Given the description of an element on the screen output the (x, y) to click on. 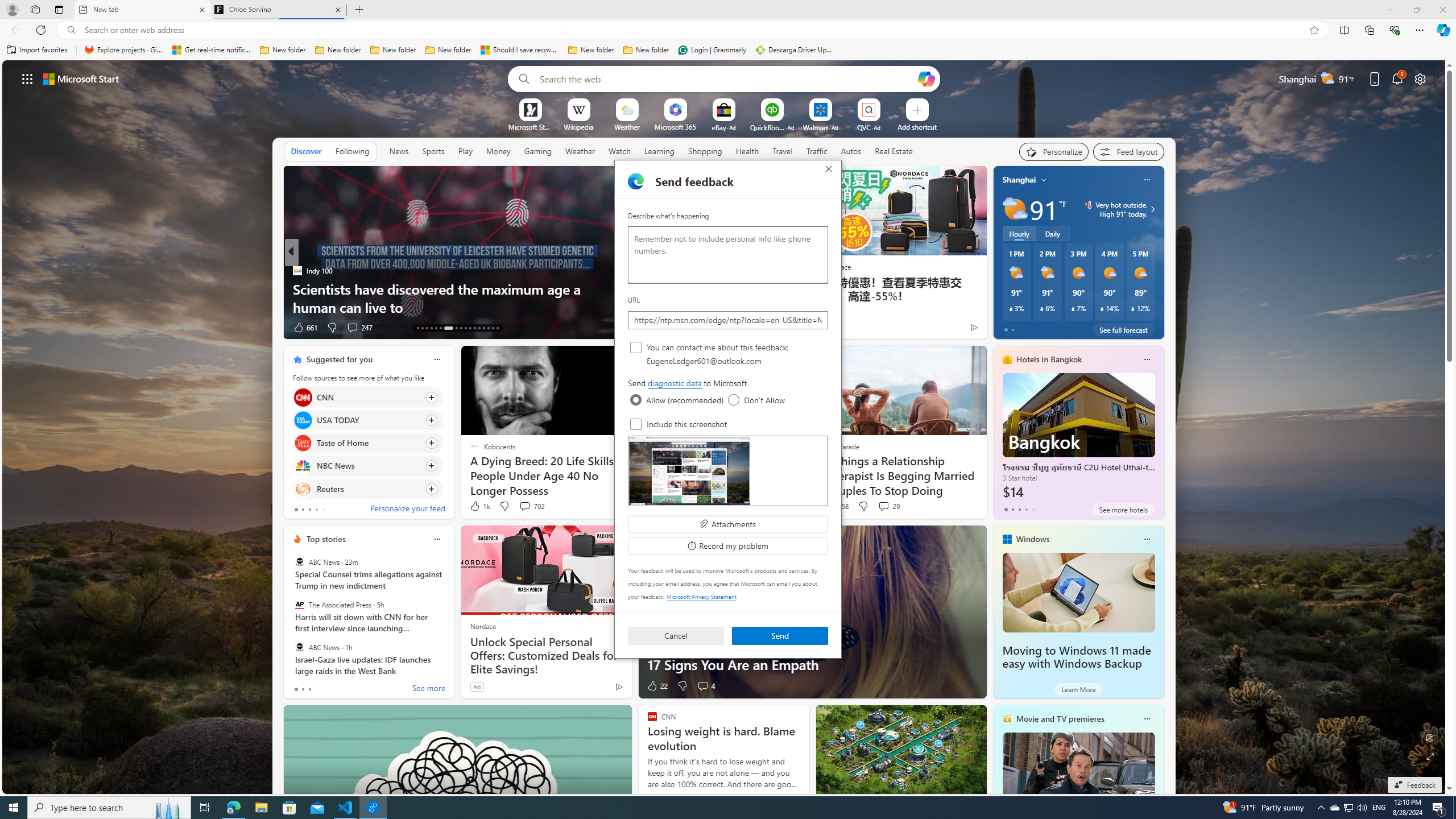
Partly sunny (1014, 208)
1k Like (478, 505)
Reuters (302, 488)
Feed settings (1128, 151)
App launcher (27, 78)
tab-3 (1025, 509)
Allow (recommended) (636, 399)
Start (13, 807)
